Given the description of an element on the screen output the (x, y) to click on. 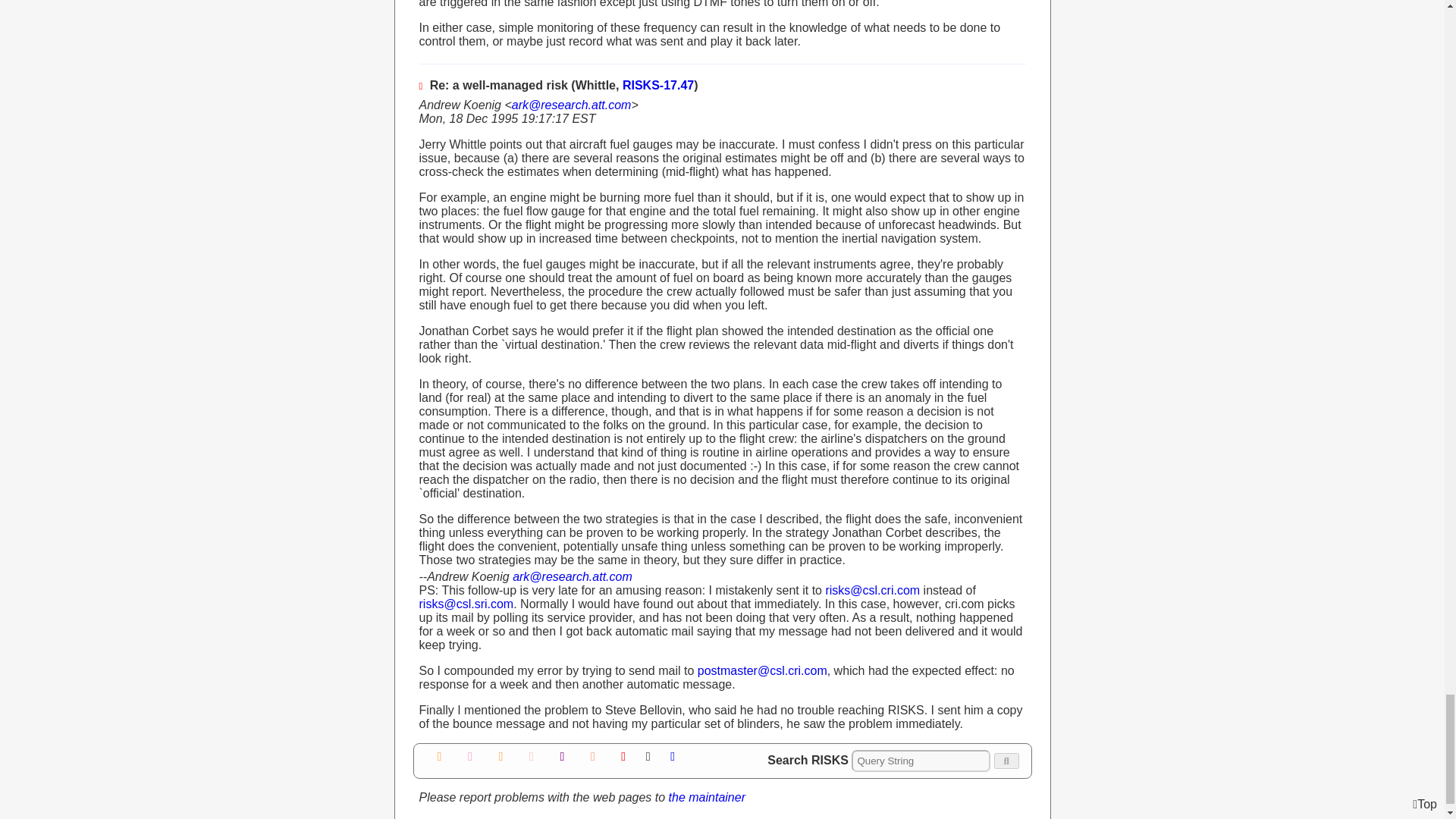
Volume 17 Index (470, 756)
Volume 17 Issue 55 (439, 756)
